Given the description of an element on the screen output the (x, y) to click on. 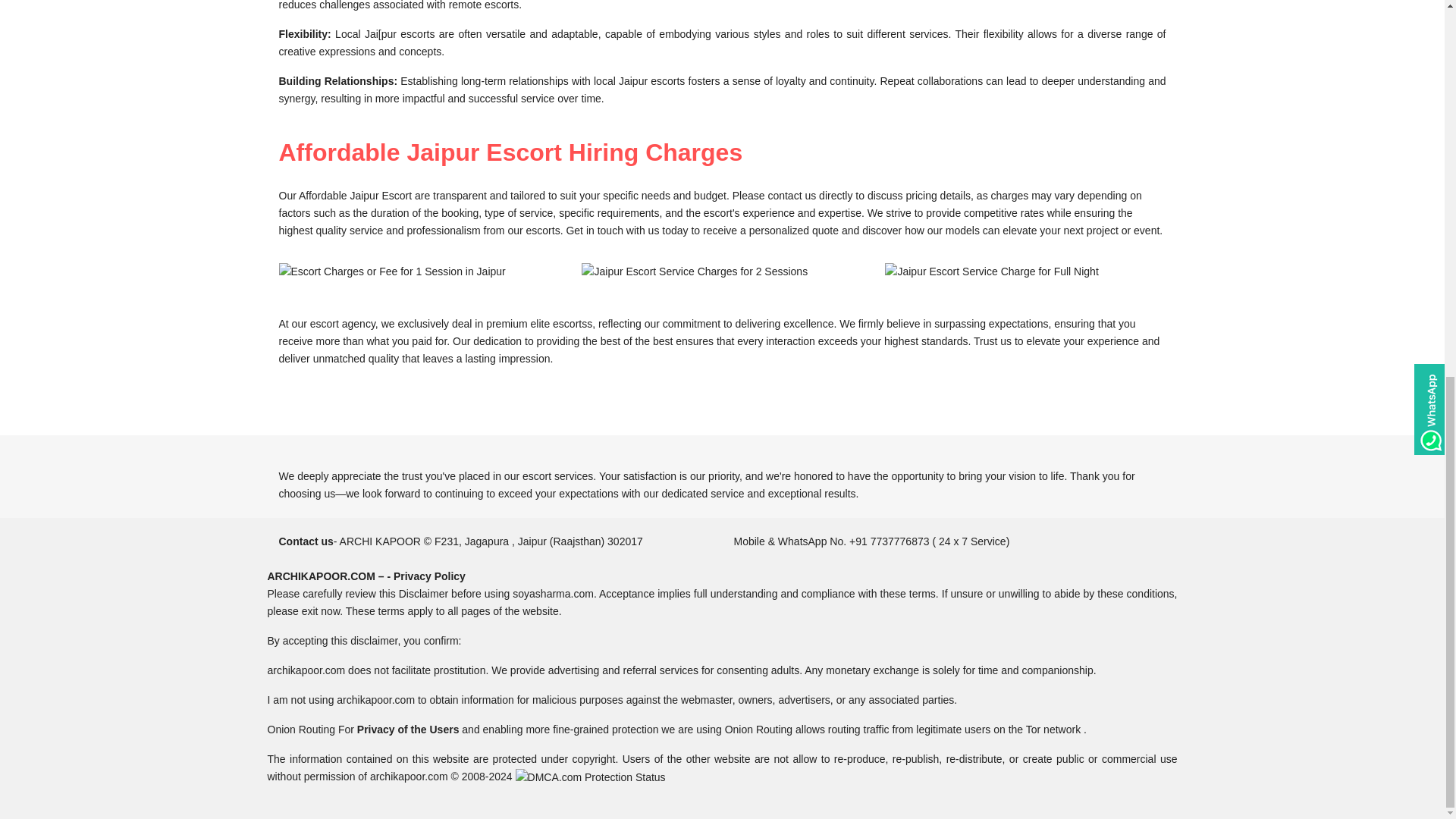
DMCA.com Protection Status (590, 777)
